Given the description of an element on the screen output the (x, y) to click on. 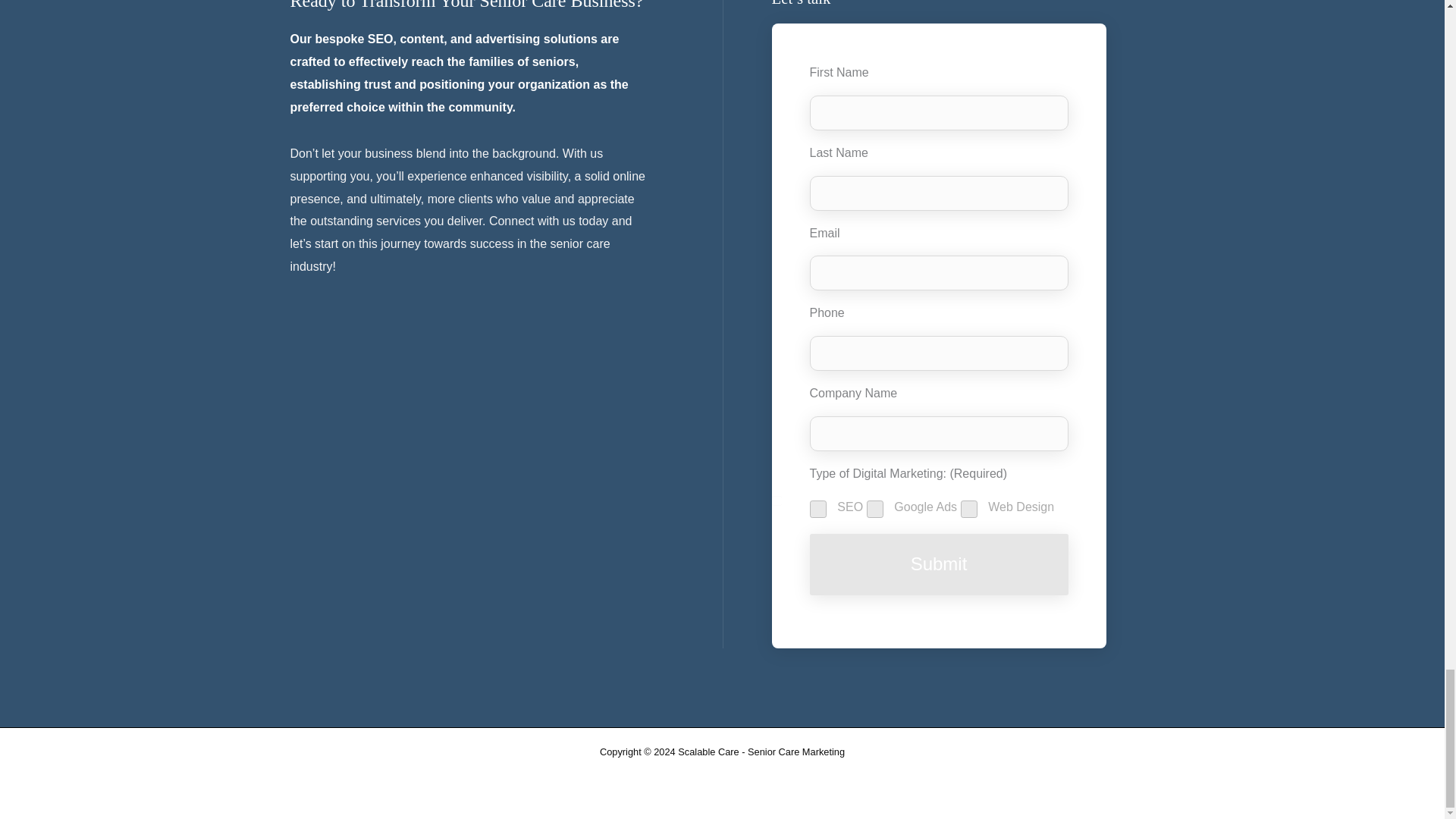
Google Ads (776, 501)
Web Design (776, 501)
SEO (776, 501)
